Given the description of an element on the screen output the (x, y) to click on. 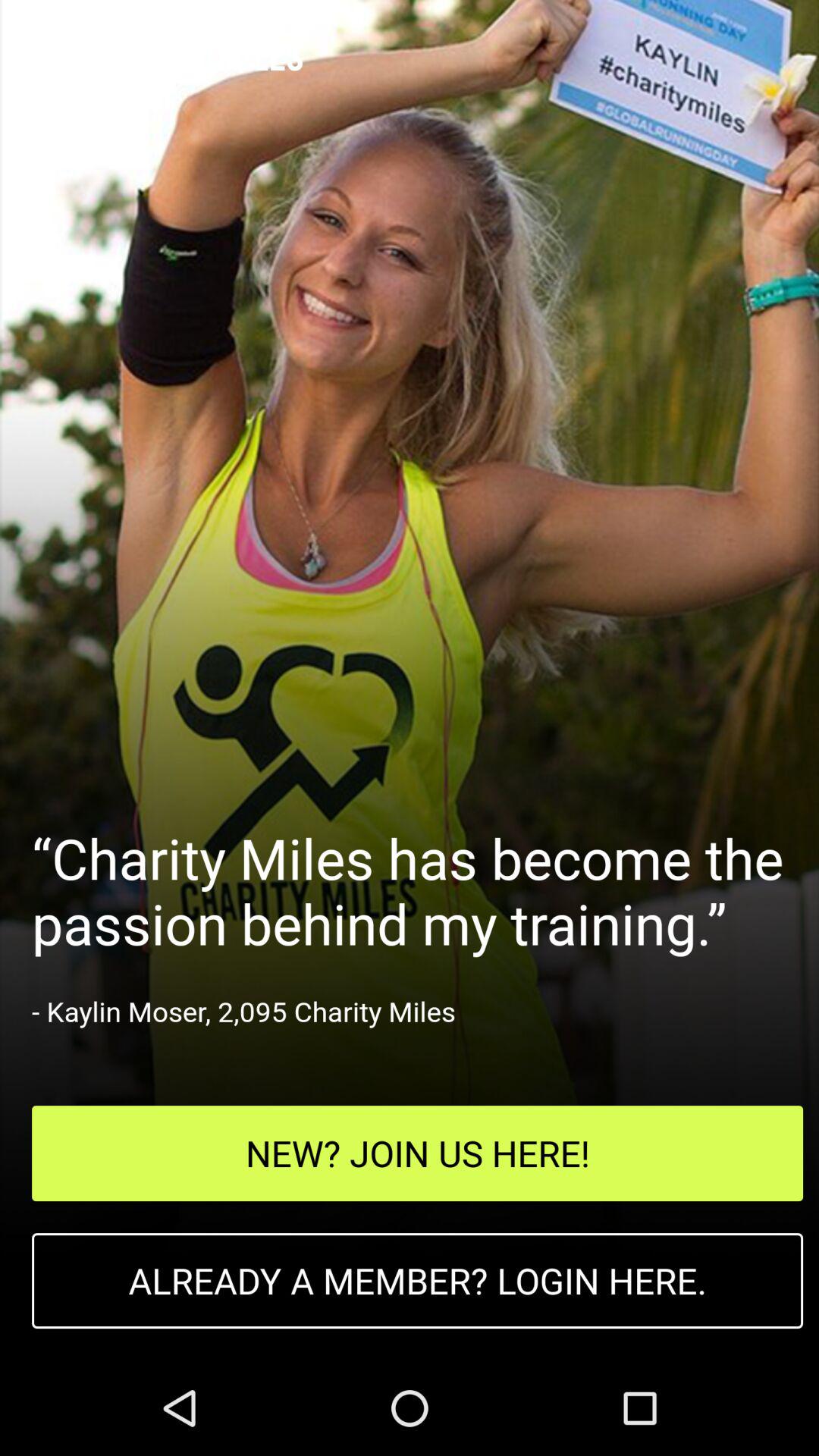
select icon below the jack fussell 3 (417, 1153)
